Given the description of an element on the screen output the (x, y) to click on. 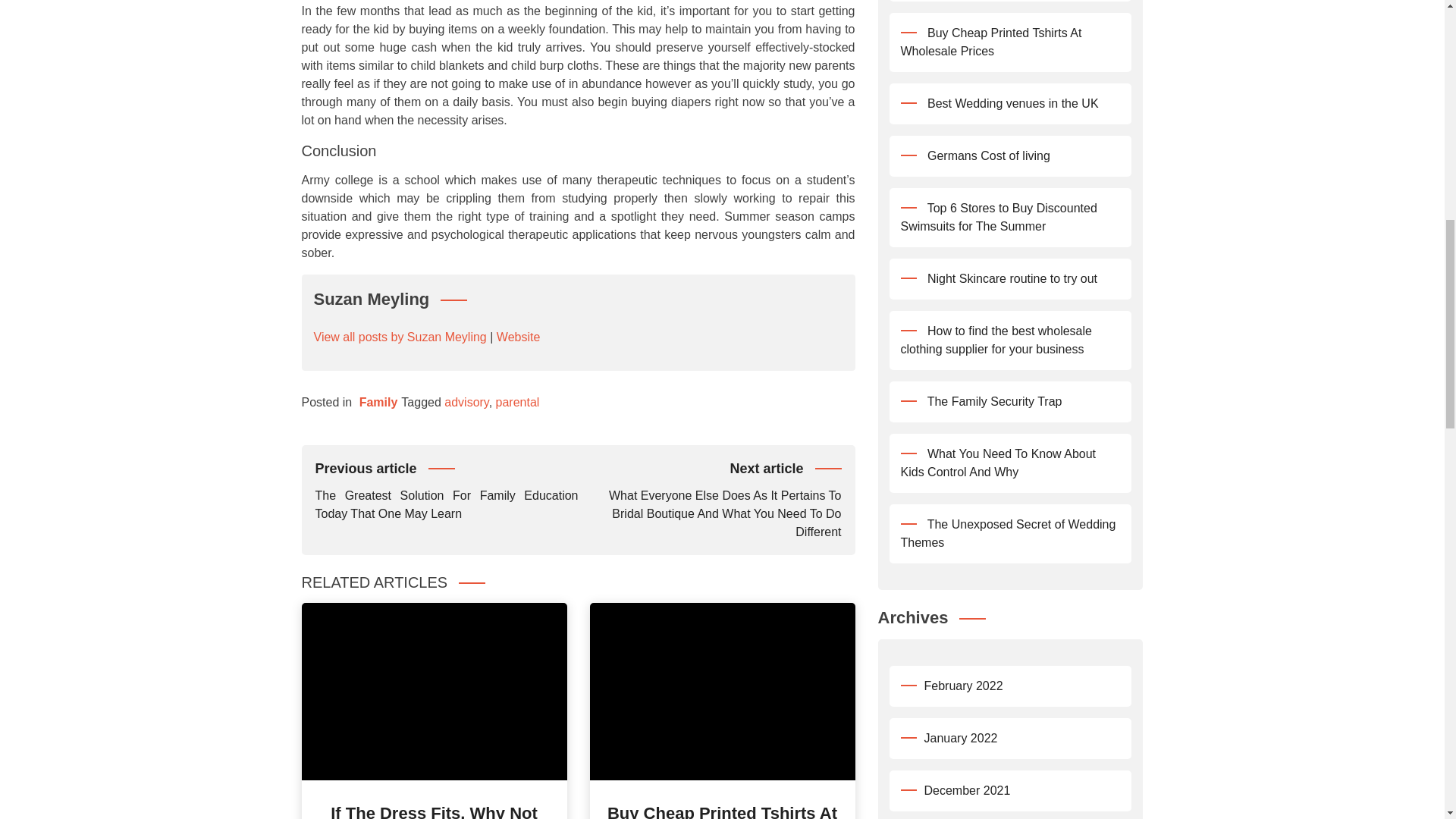
If The Dress Fits, Why Not Wear It? (433, 811)
Buy Cheap Printed Tshirts At Wholesale Prices (722, 811)
View all posts by Suzan Meyling (400, 336)
parental (518, 401)
Website (518, 336)
advisory (465, 401)
Family (378, 401)
